Given the description of an element on the screen output the (x, y) to click on. 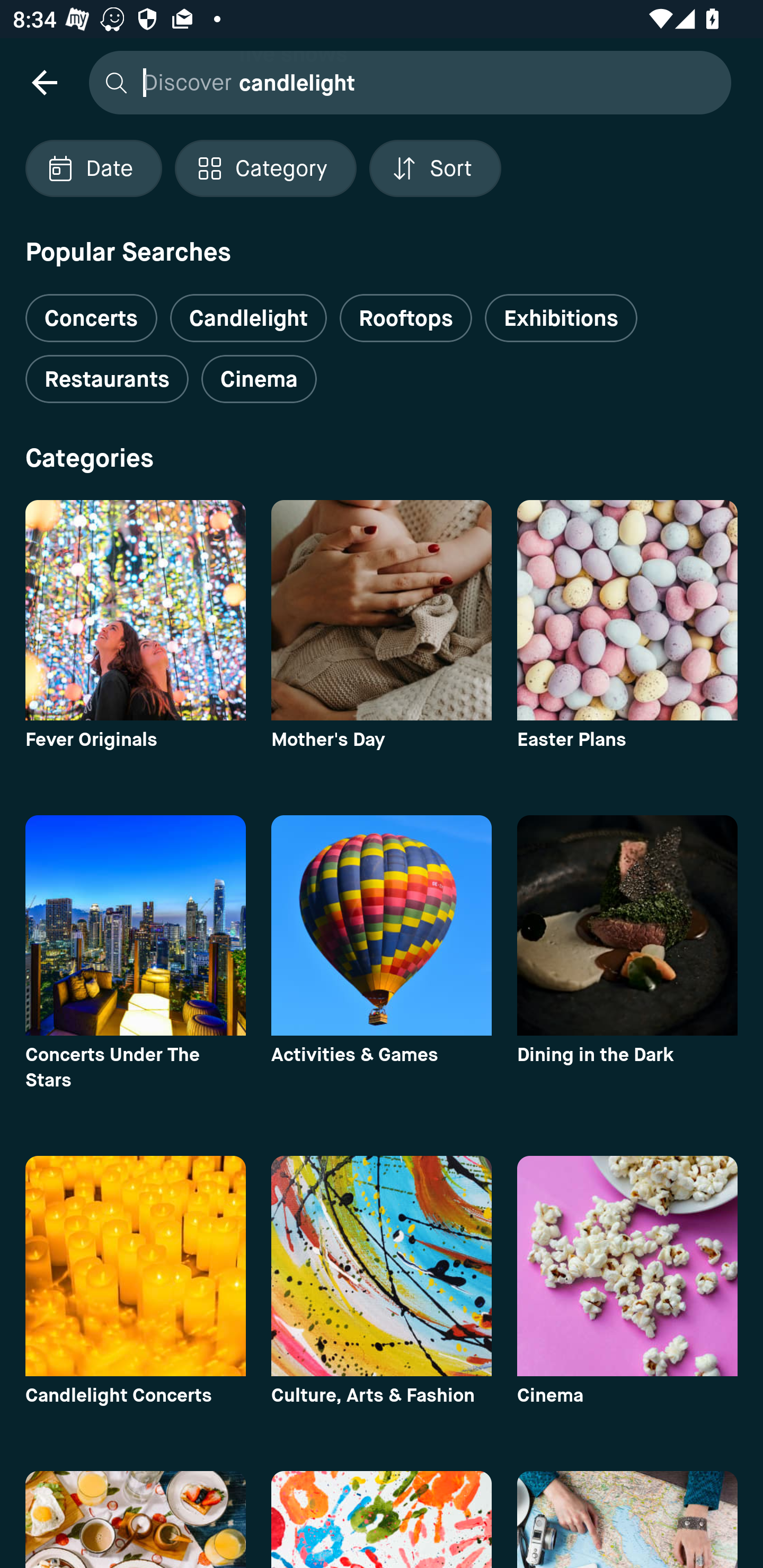
navigation icon (44, 81)
Discover live shows candlelight (405, 81)
Localized description Date (93, 168)
Localized description Category (265, 168)
Localized description Sort (435, 168)
Concerts (91, 310)
Candlelight (248, 317)
Rooftops (405, 317)
Exhibitions (560, 317)
Restaurants (106, 379)
Cinema (258, 379)
category image (135, 609)
category image (381, 609)
category image (627, 609)
category image (135, 924)
category image (381, 924)
category image (627, 924)
category image (135, 1265)
category image (381, 1265)
category image (627, 1265)
